Given the description of an element on the screen output the (x, y) to click on. 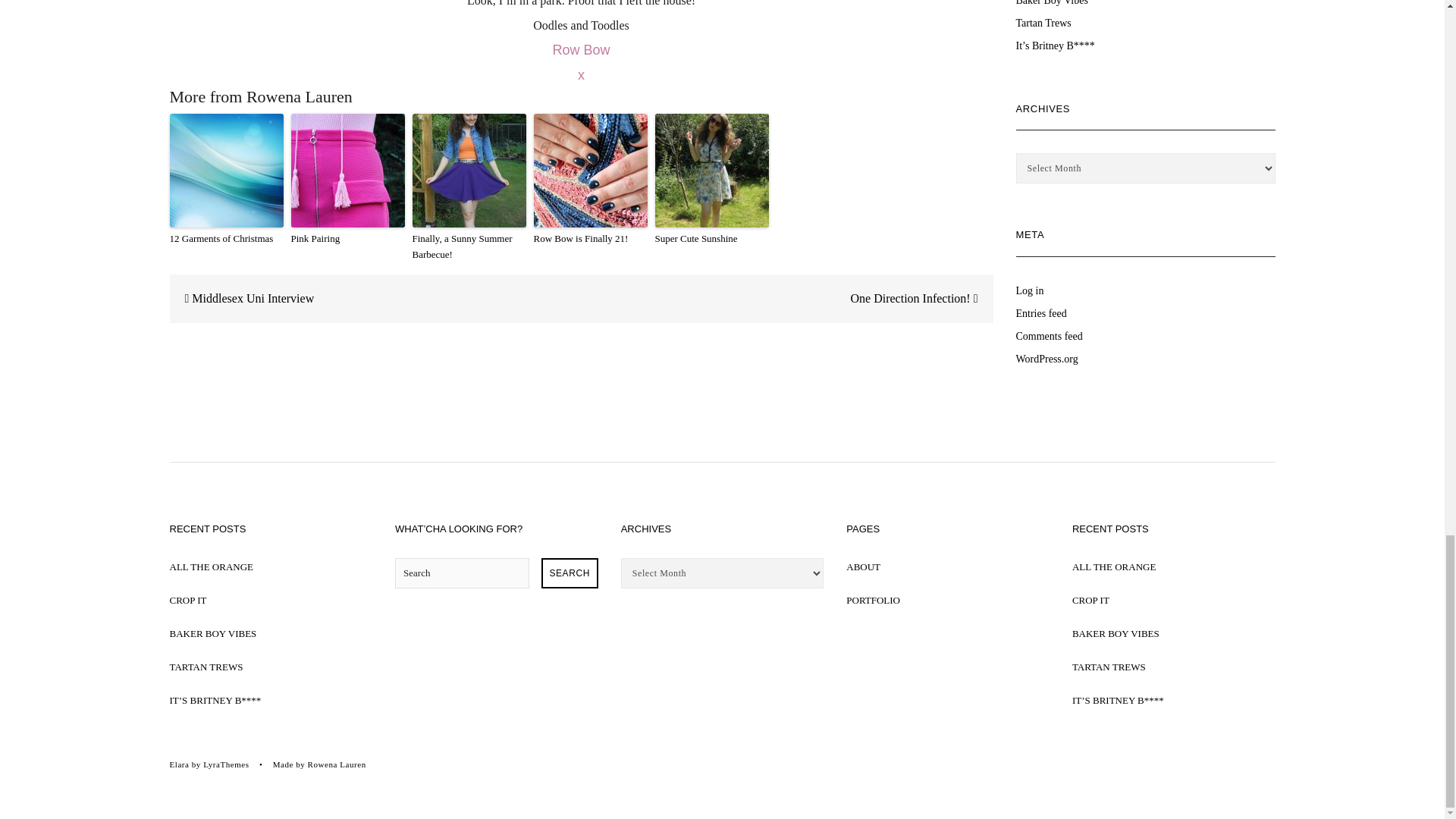
Row Bow is Finally 21! (590, 238)
Pink Pairing (347, 238)
Super Cute Sunshine (711, 238)
12 Garments of Christmas (226, 238)
Middlesex Uni Interview (242, 298)
Finally, a Sunny Summer Barbecue! (468, 246)
